Given the description of an element on the screen output the (x, y) to click on. 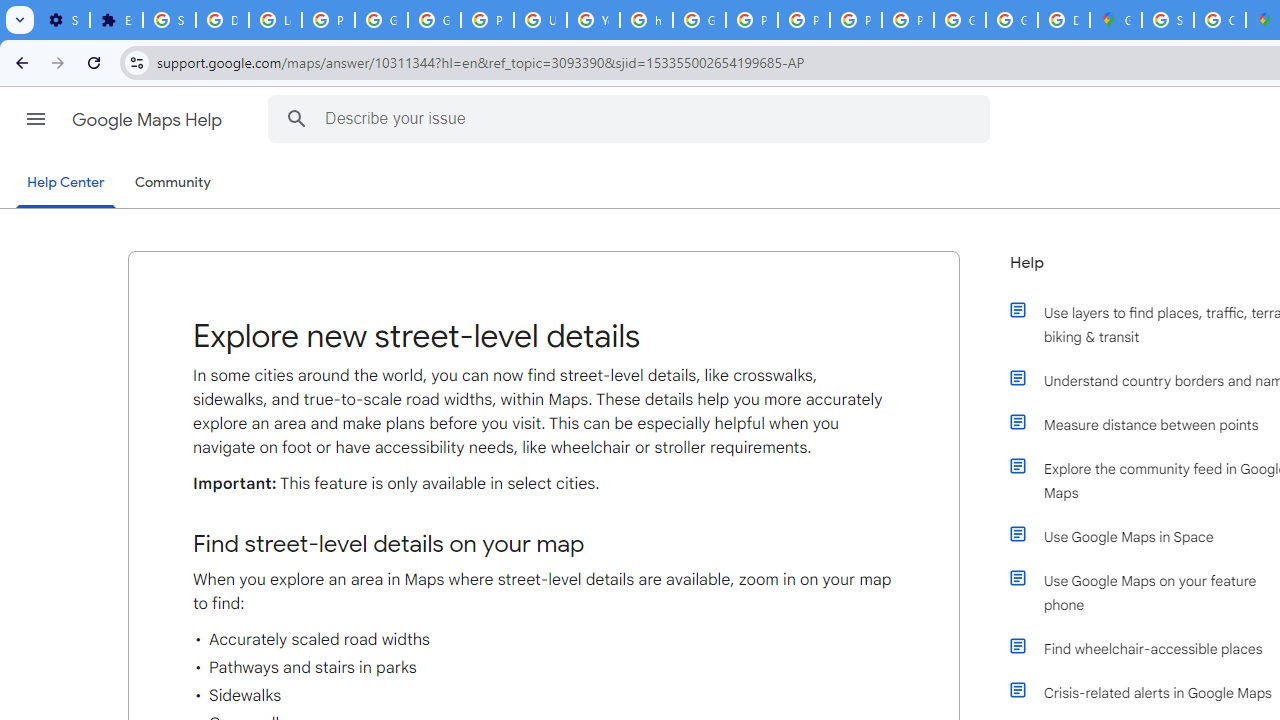
Google Maps Help (148, 119)
Community (171, 183)
